Given the description of an element on the screen output the (x, y) to click on. 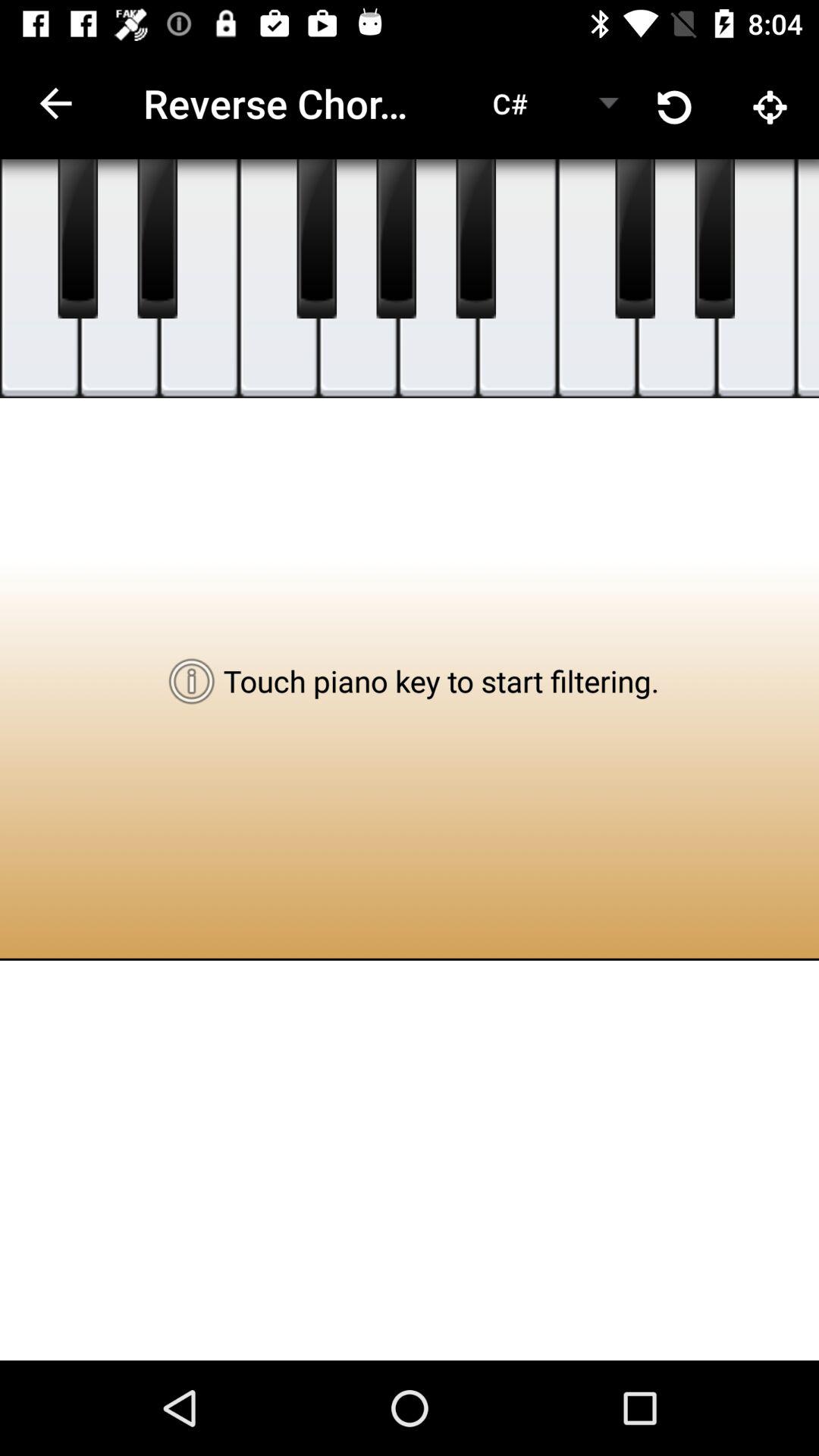
select piano chord (119, 278)
